Given the description of an element on the screen output the (x, y) to click on. 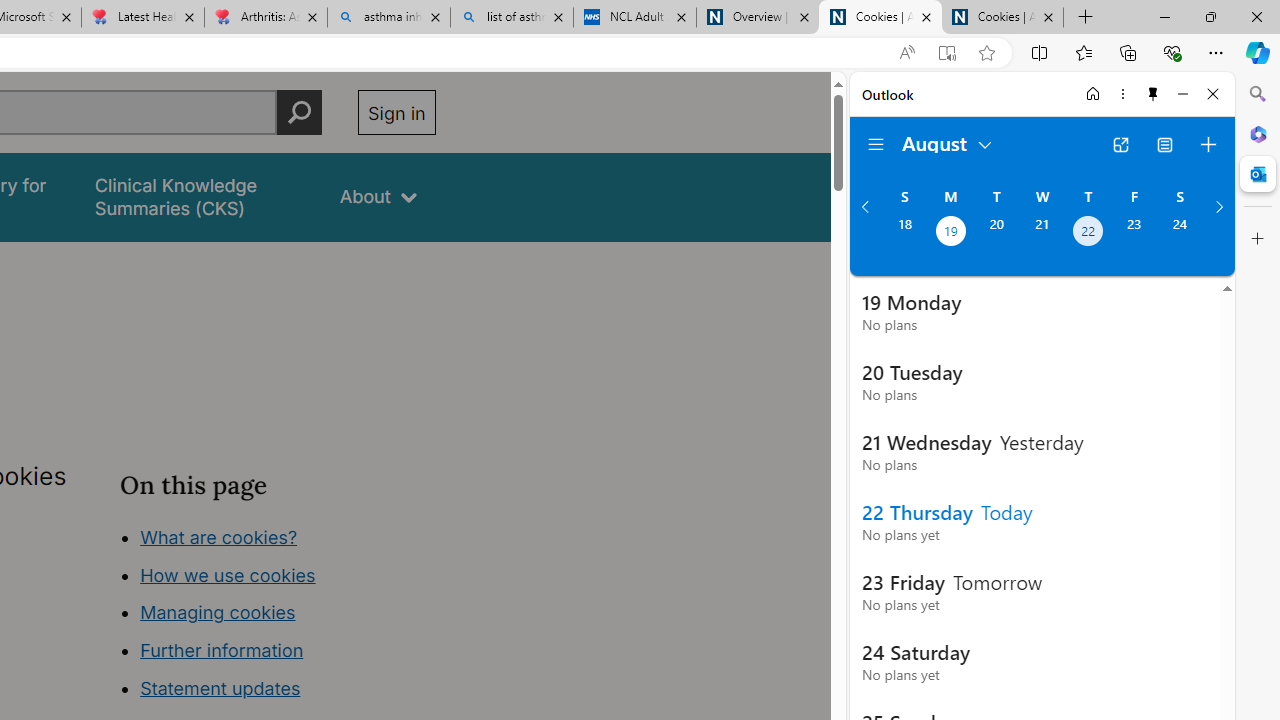
About (378, 196)
How we use cookies (227, 574)
Open in new tab (1120, 144)
More options (1122, 93)
Friday, August 23, 2024.  (1134, 233)
Class: in-page-nav__list (277, 615)
Close Customize pane (1258, 239)
Unpin side pane (1153, 93)
asthma inhaler - Search (388, 17)
View Switcher. Current view is Agenda view (1165, 144)
